Given the description of an element on the screen output the (x, y) to click on. 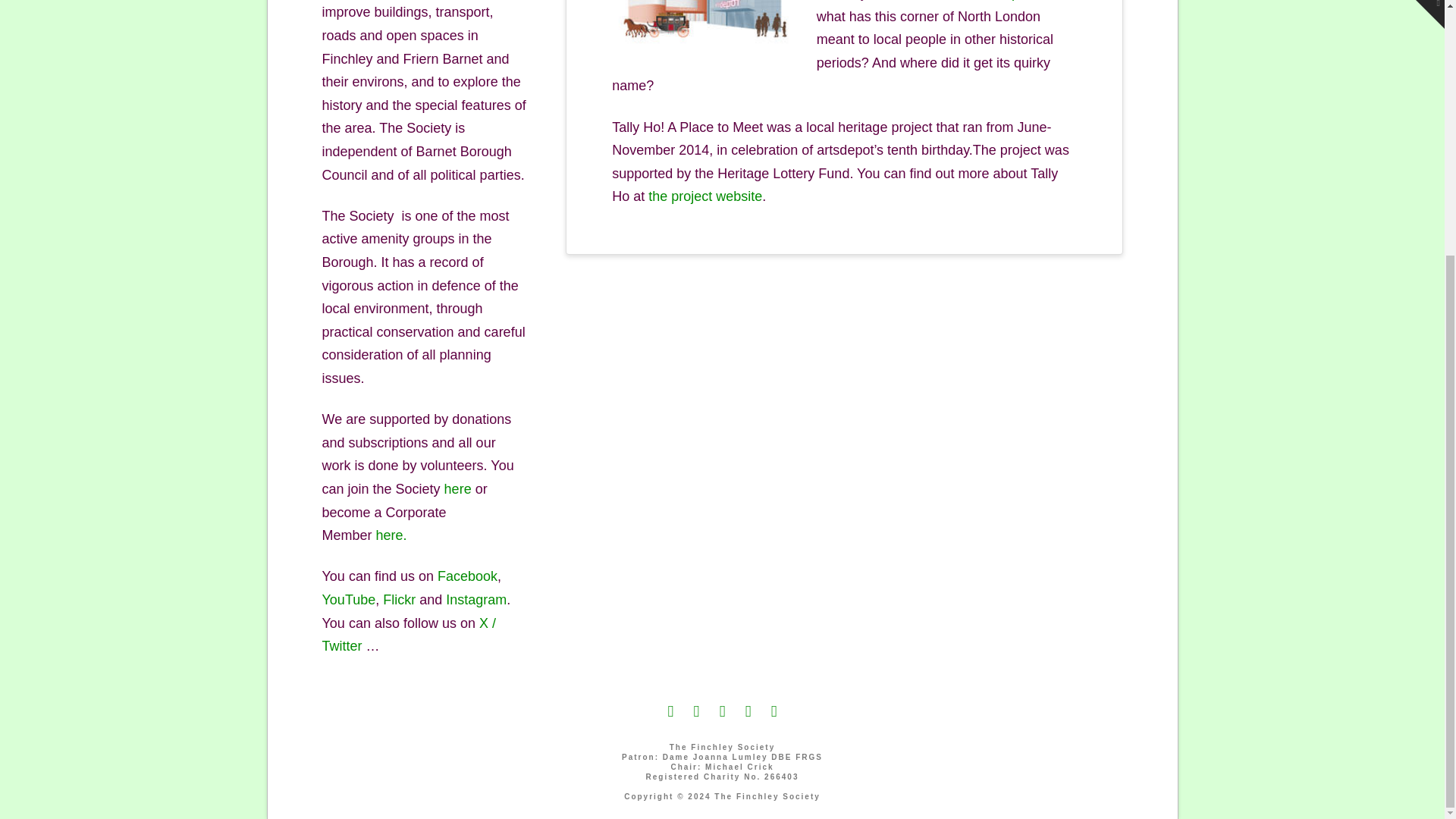
the project website (704, 196)
Instagram (475, 599)
artsdepot (1002, 0)
YouTube (348, 599)
Facebook (467, 575)
here (457, 488)
Flickr (398, 599)
here. (391, 534)
